Given the description of an element on the screen output the (x, y) to click on. 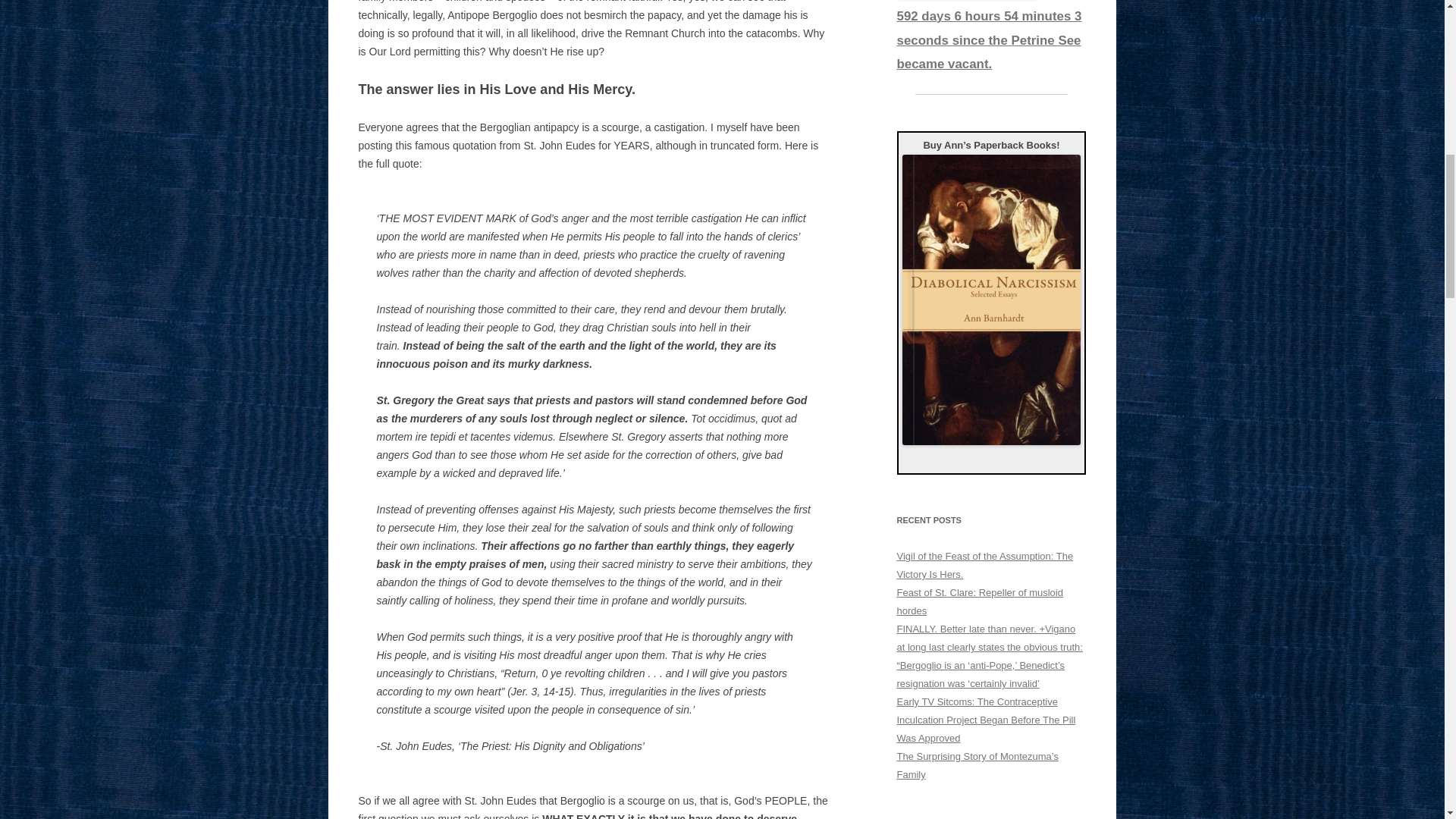
Vigil of the Feast of the Assumption: The Victory Is Hers. (984, 564)
Feast of St. Clare: Repeller of musloid hordes (979, 601)
